Given the description of an element on the screen output the (x, y) to click on. 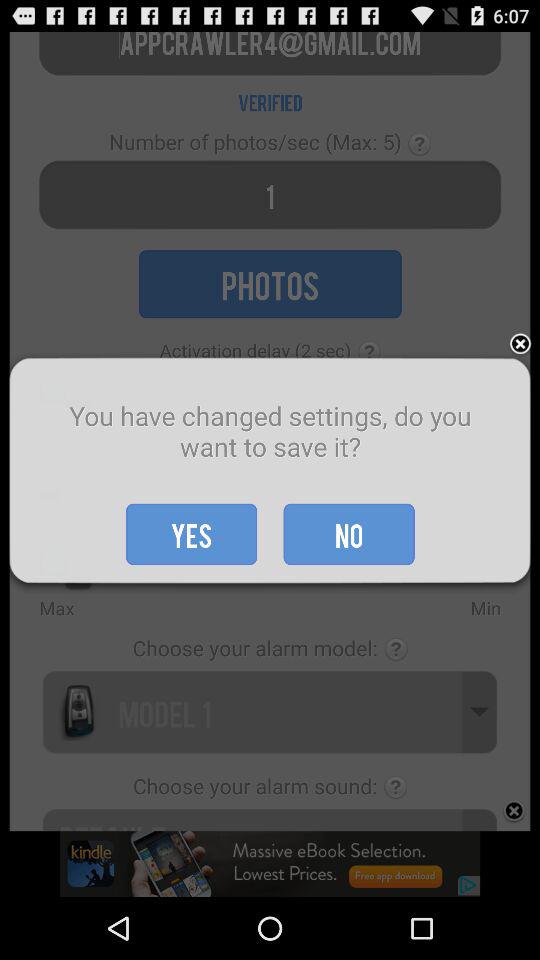
flip until the yes icon (191, 534)
